Given the description of an element on the screen output the (x, y) to click on. 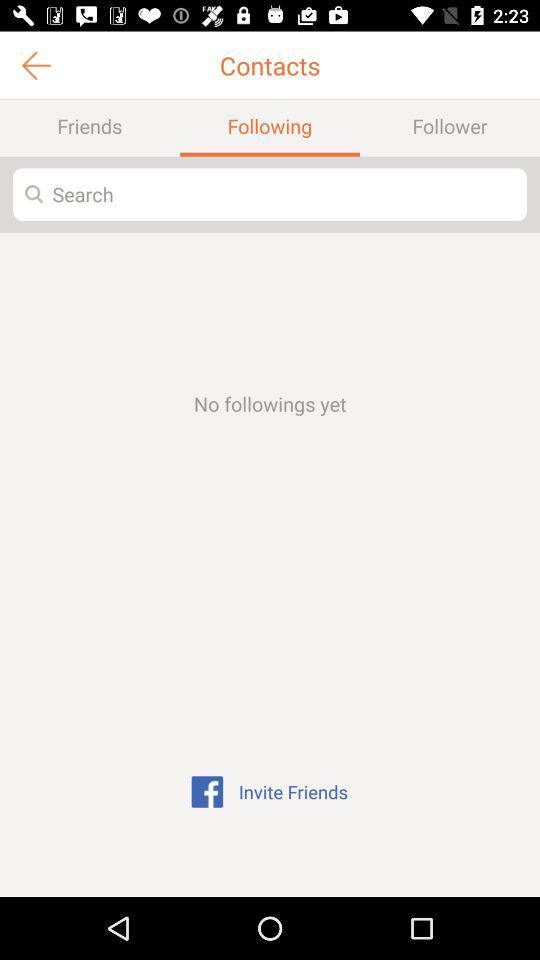
search field (269, 194)
